Given the description of an element on the screen output the (x, y) to click on. 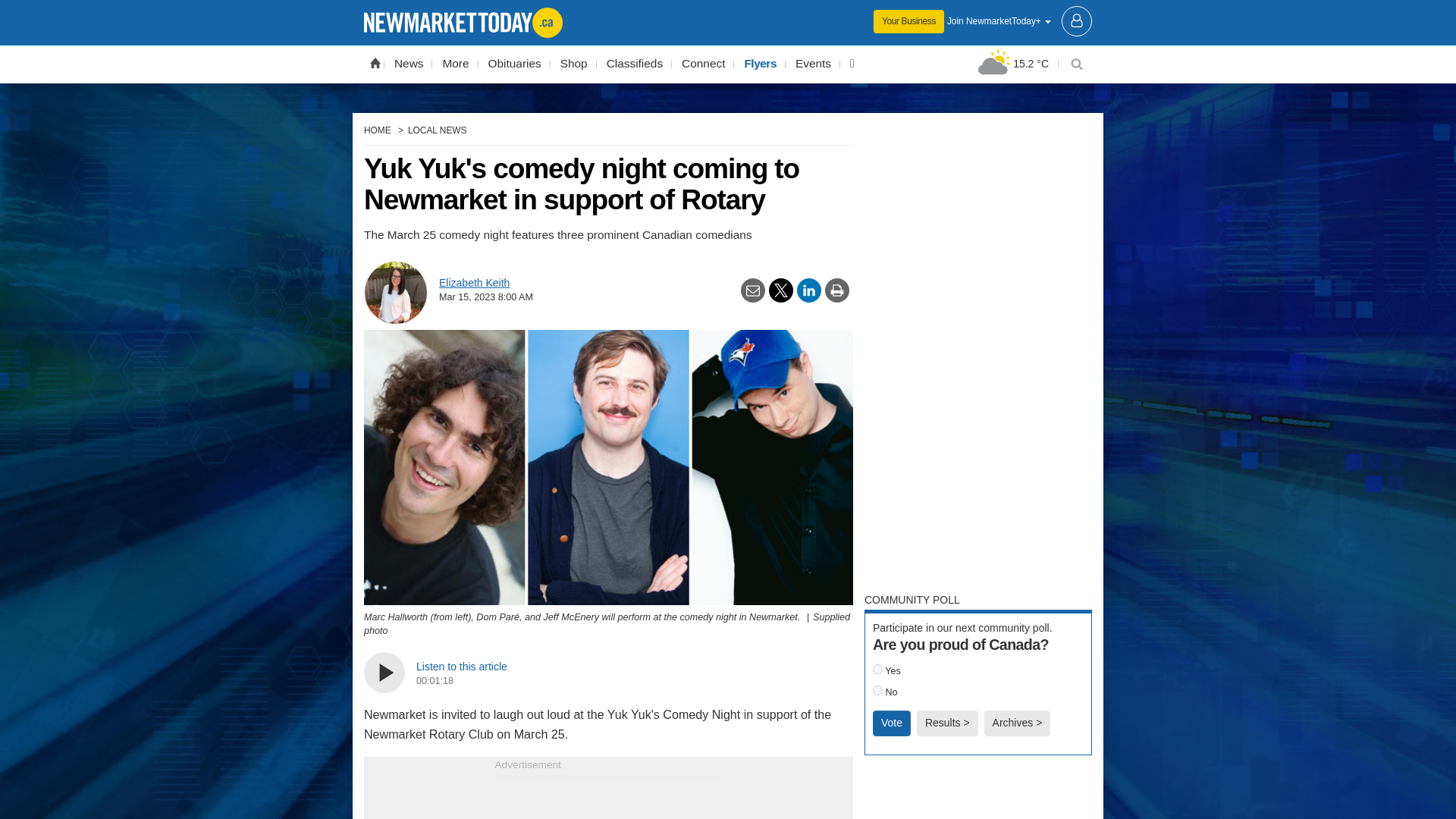
122182 (877, 669)
3rd party ad content (978, 794)
NewmarketToday Cares (852, 64)
3rd party ad content (978, 351)
122183 (877, 690)
Home (374, 62)
3rd party ad content (608, 798)
News (408, 64)
Your Business (908, 21)
